Given the description of an element on the screen output the (x, y) to click on. 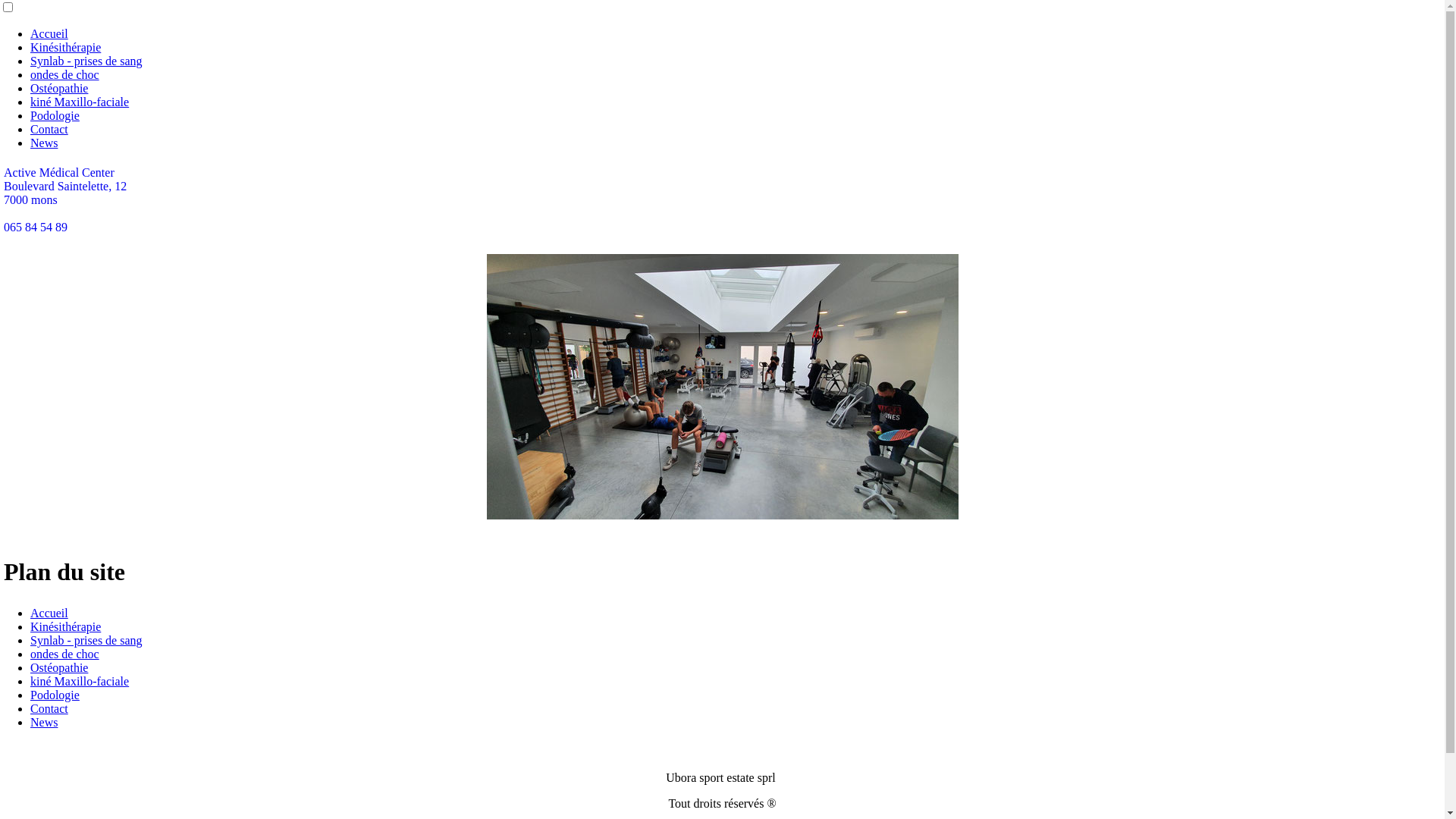
ondes de choc Element type: text (64, 653)
News Element type: text (43, 142)
News Element type: text (43, 721)
Accueil Element type: text (49, 612)
Contact Element type: text (49, 708)
Synlab - prises de sang Element type: text (86, 639)
Accueil Element type: text (49, 33)
ondes de choc Element type: text (64, 74)
Synlab - prises de sang Element type: text (86, 60)
Contact Element type: text (49, 128)
Podologie Element type: text (54, 115)
Podologie Element type: text (54, 694)
